Given the description of an element on the screen output the (x, y) to click on. 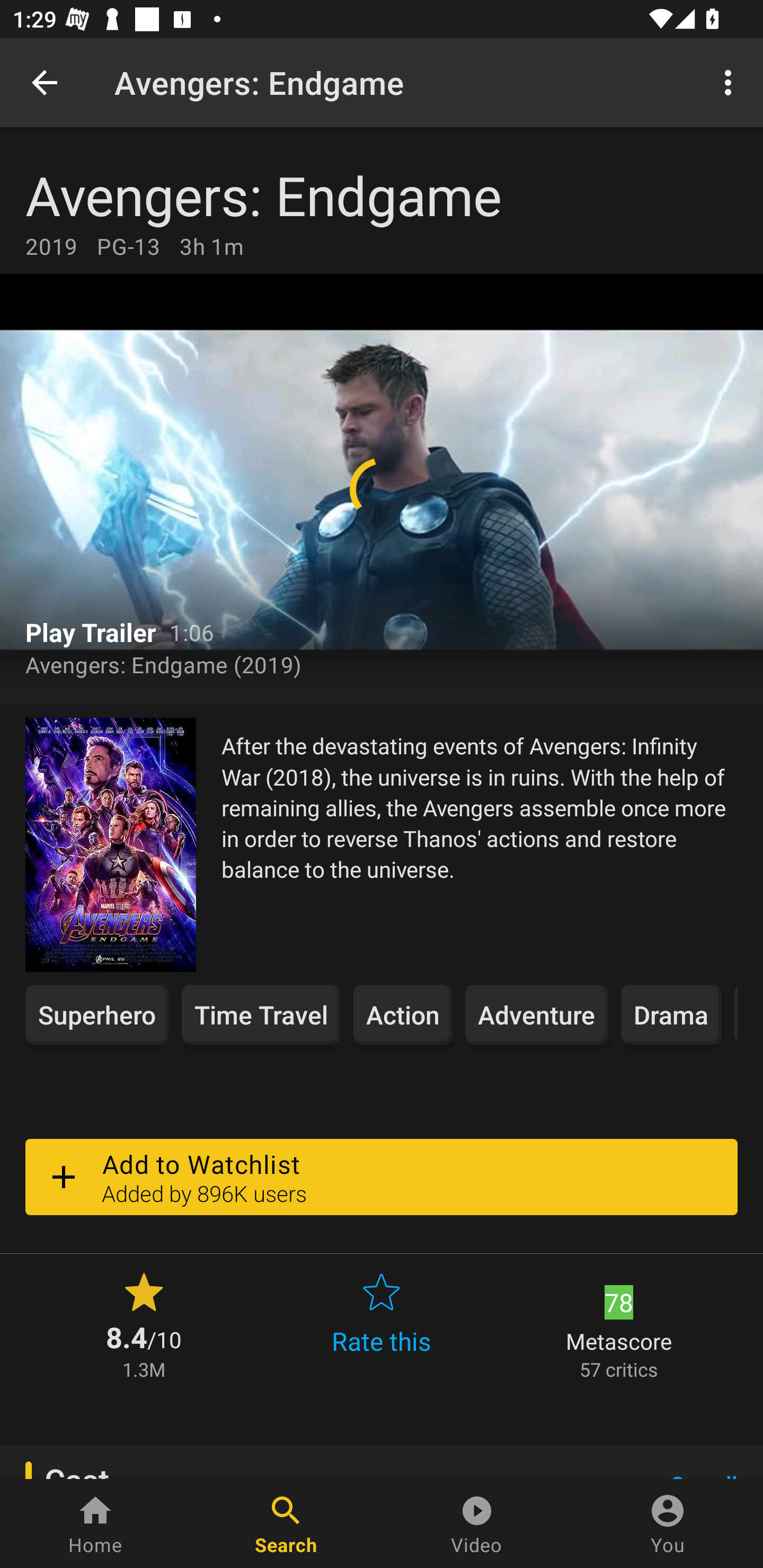
More options (731, 81)
Superhero (97, 1014)
Time Travel (261, 1014)
Action (402, 1014)
Adventure (536, 1014)
Drama (671, 1014)
Add to Watchlist Added by 896K users (381, 1176)
8.4 /10 1.3M (143, 1323)
Rate this (381, 1323)
78 Metascore 57 critics (618, 1323)
Home (95, 1523)
Video (476, 1523)
You (667, 1523)
